Given the description of an element on the screen output the (x, y) to click on. 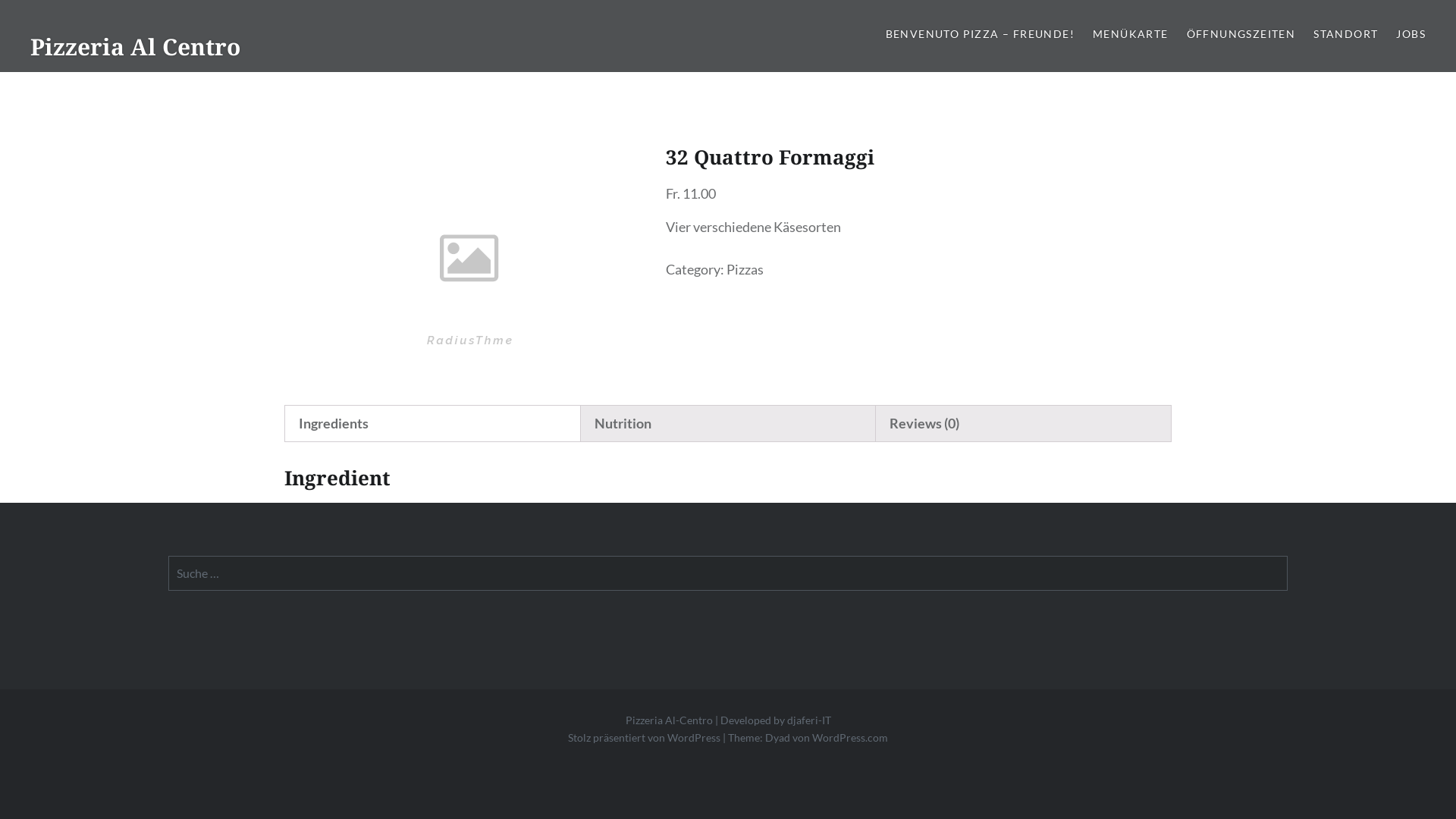
Suche Element type: text (582, 19)
Pizzas Element type: text (744, 268)
Pizzeria Al Centro Element type: text (135, 46)
Developed by djaferi-IT Element type: text (775, 719)
Pizzeria Al-Centro Element type: text (669, 719)
WordPress.com Element type: text (850, 737)
STANDORT Element type: text (1345, 34)
JOBS Element type: text (1410, 34)
